Given the description of an element on the screen output the (x, y) to click on. 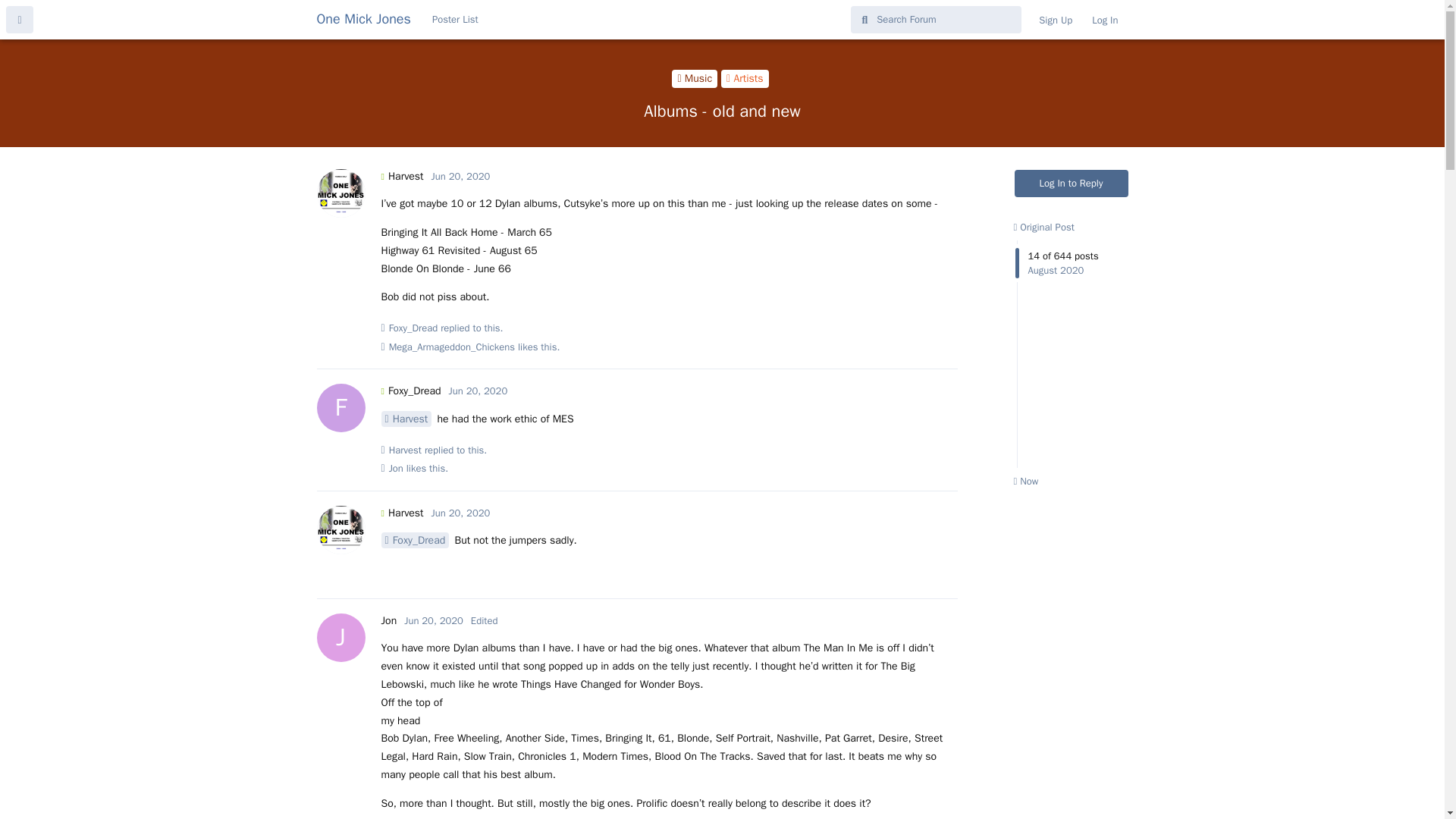
Jun 20, 2020 (433, 620)
Harvest (401, 512)
Now (1025, 481)
Log In (1103, 19)
Harvest (401, 175)
Jun 20, 2020 (460, 512)
Poster List (454, 19)
Harvest (405, 418)
Log In to Reply (1071, 183)
Sign Up (1055, 19)
